Given the description of an element on the screen output the (x, y) to click on. 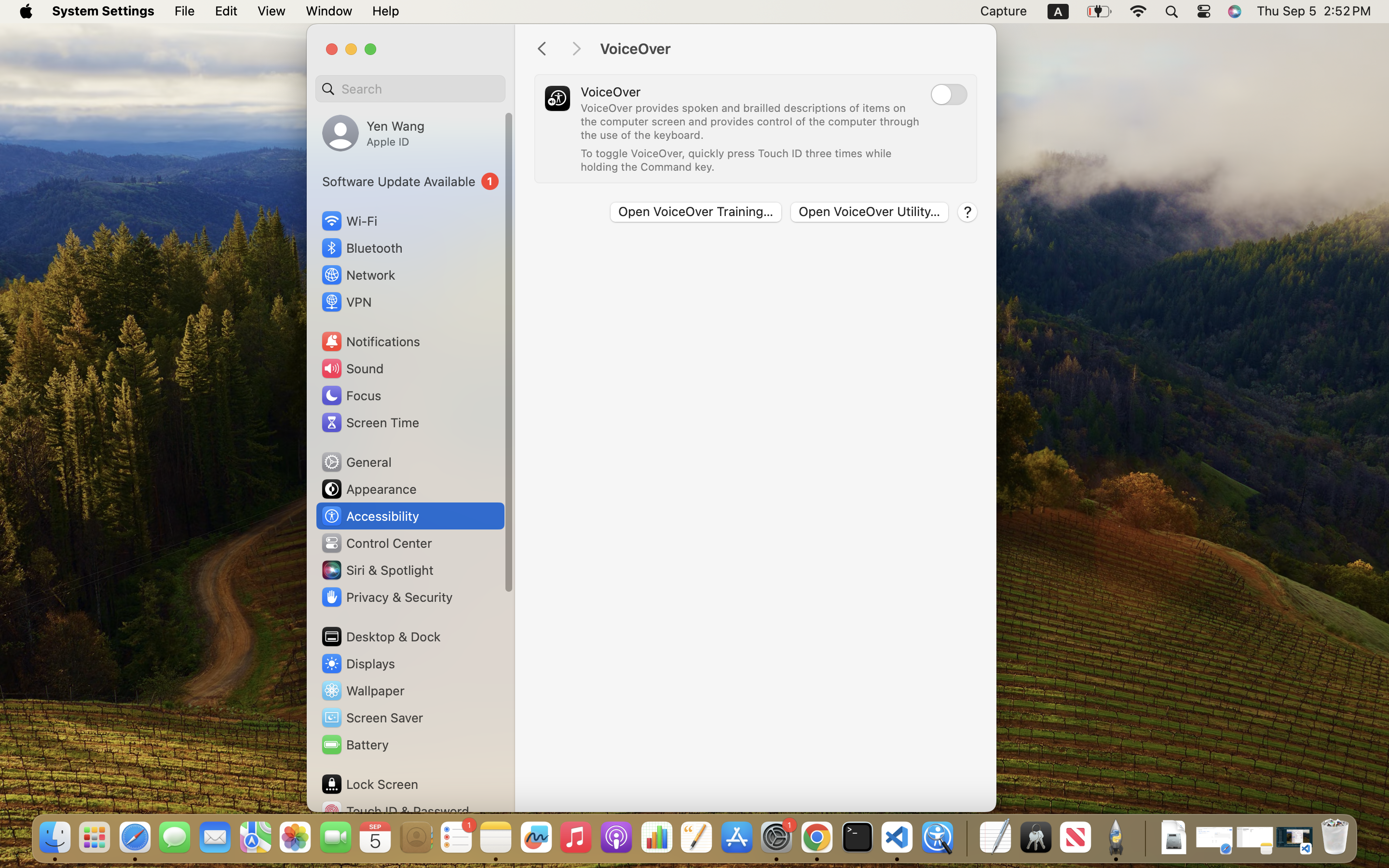
0.4285714328289032 Element type: AXDockItem (965, 837)
Control Center Element type: AXStaticText (376, 542)
Touch ID & Password Element type: AXStaticText (394, 810)
Yen Wang, Apple ID Element type: AXStaticText (373, 132)
Network Element type: AXStaticText (357, 274)
